Given the description of an element on the screen output the (x, y) to click on. 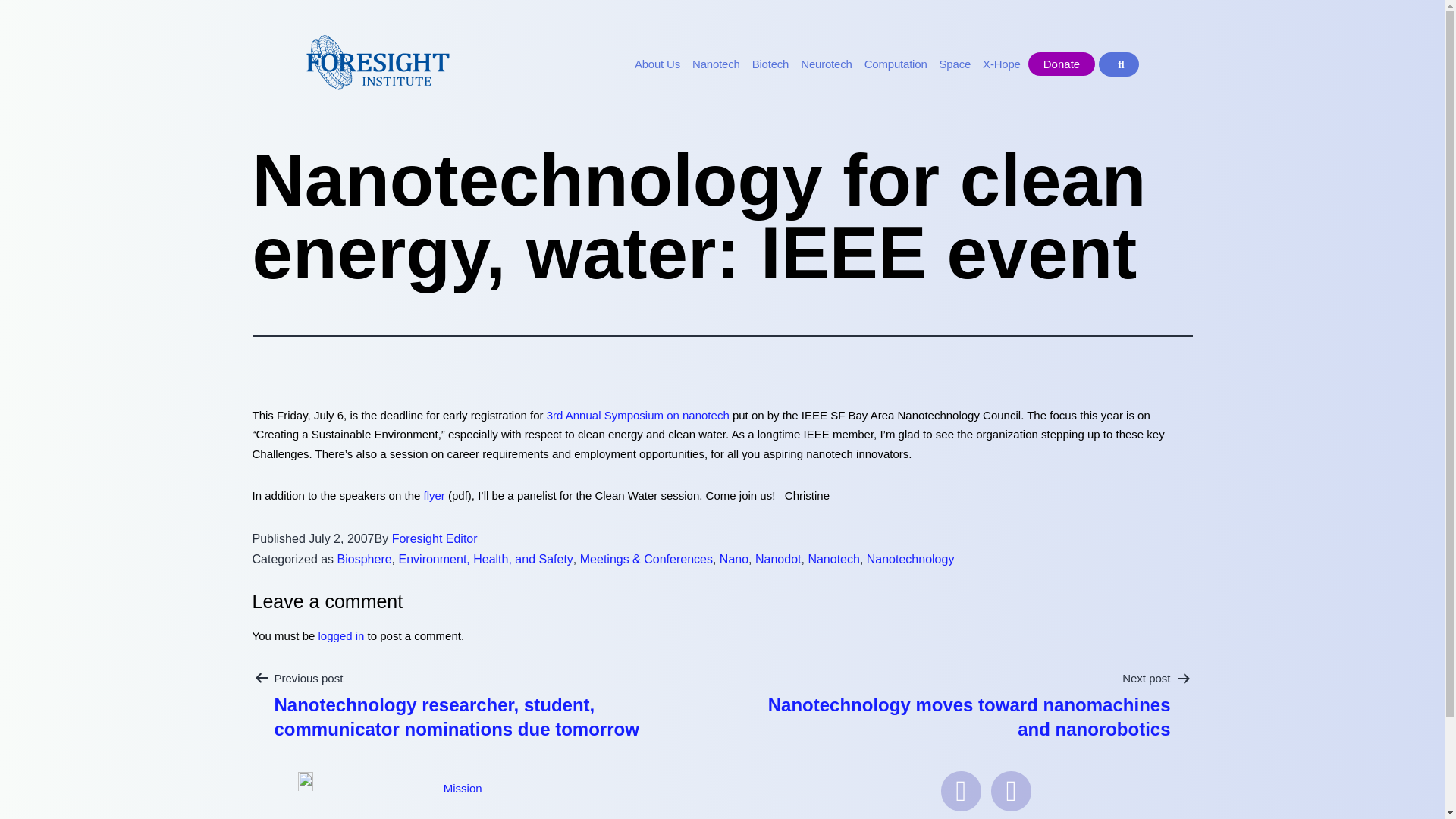
X-Hope (1001, 64)
Computation (895, 64)
Biotech (770, 64)
Biosphere (364, 558)
Nano (733, 558)
Environment, Health, and Safety (485, 558)
Space (955, 64)
About Us (657, 64)
3rd Annual Symposium on nanotech (638, 414)
Neurotech (826, 64)
